Given the description of an element on the screen output the (x, y) to click on. 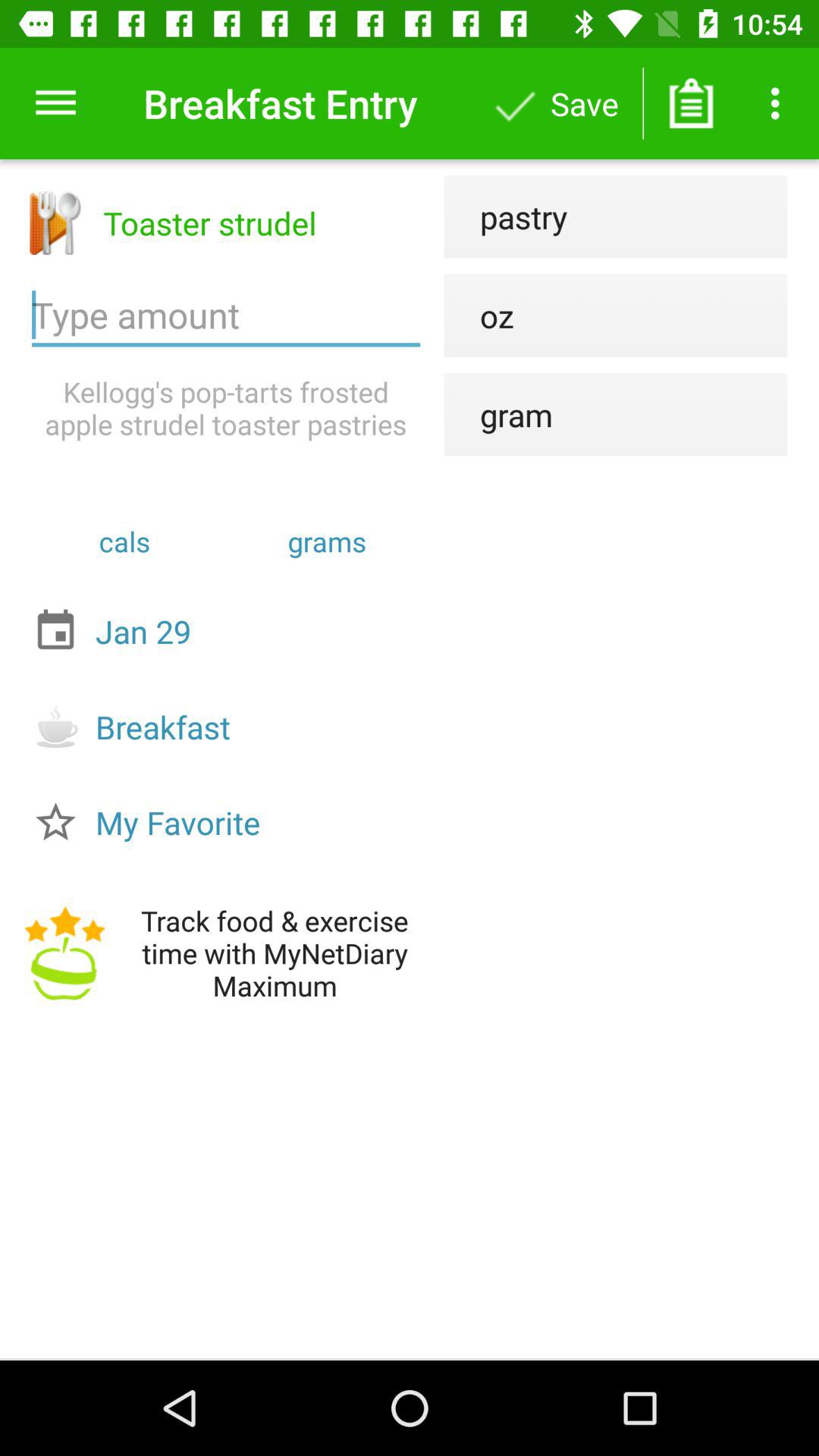
click the item above cals item (225, 408)
